Given the description of an element on the screen output the (x, y) to click on. 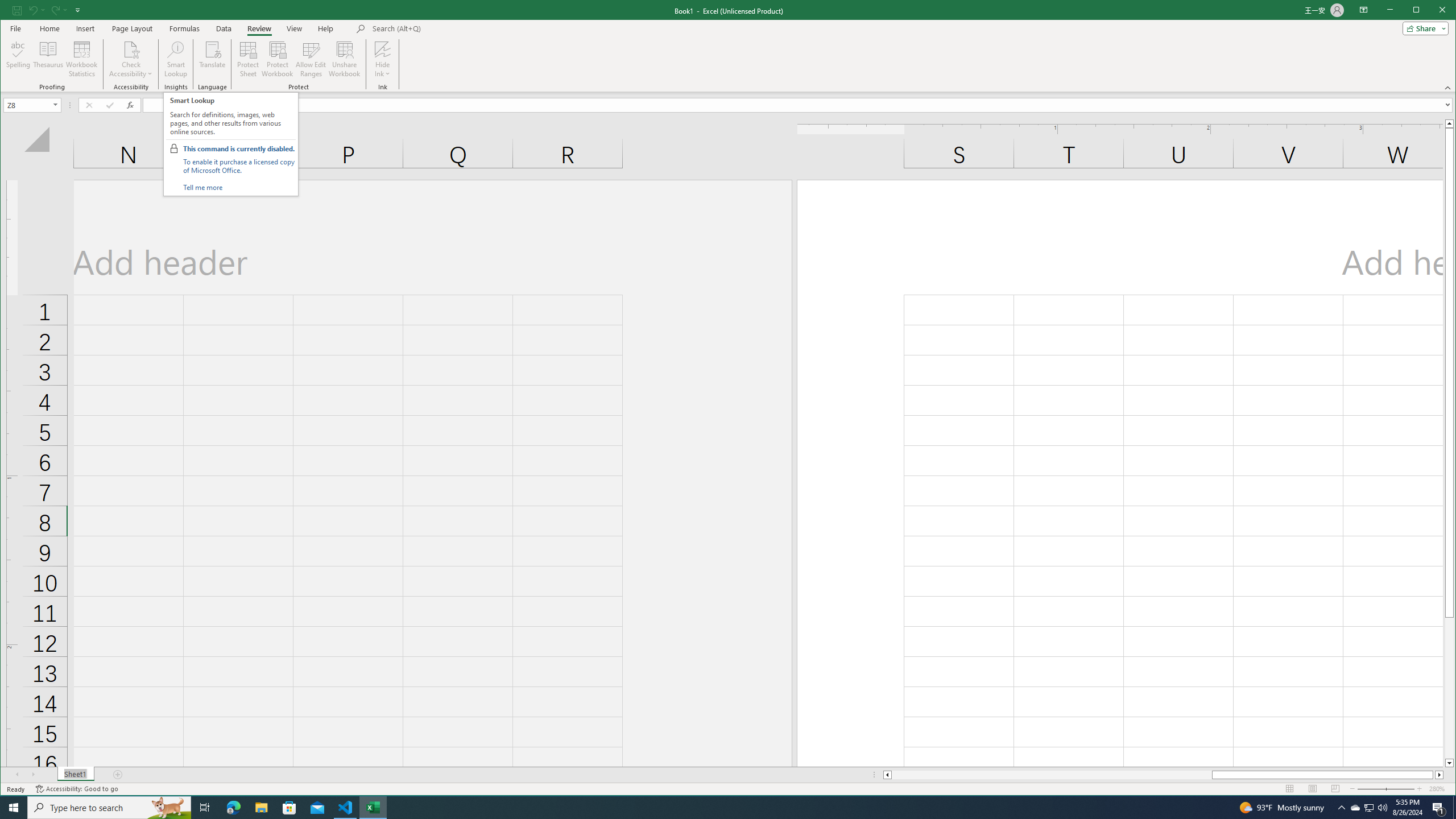
Smart Lookup (176, 59)
Protect Workbook... (277, 59)
Task View (204, 807)
Spelling... (18, 59)
Search highlights icon opens search home window (167, 807)
Show desktop (1454, 807)
